Given the description of an element on the screen output the (x, y) to click on. 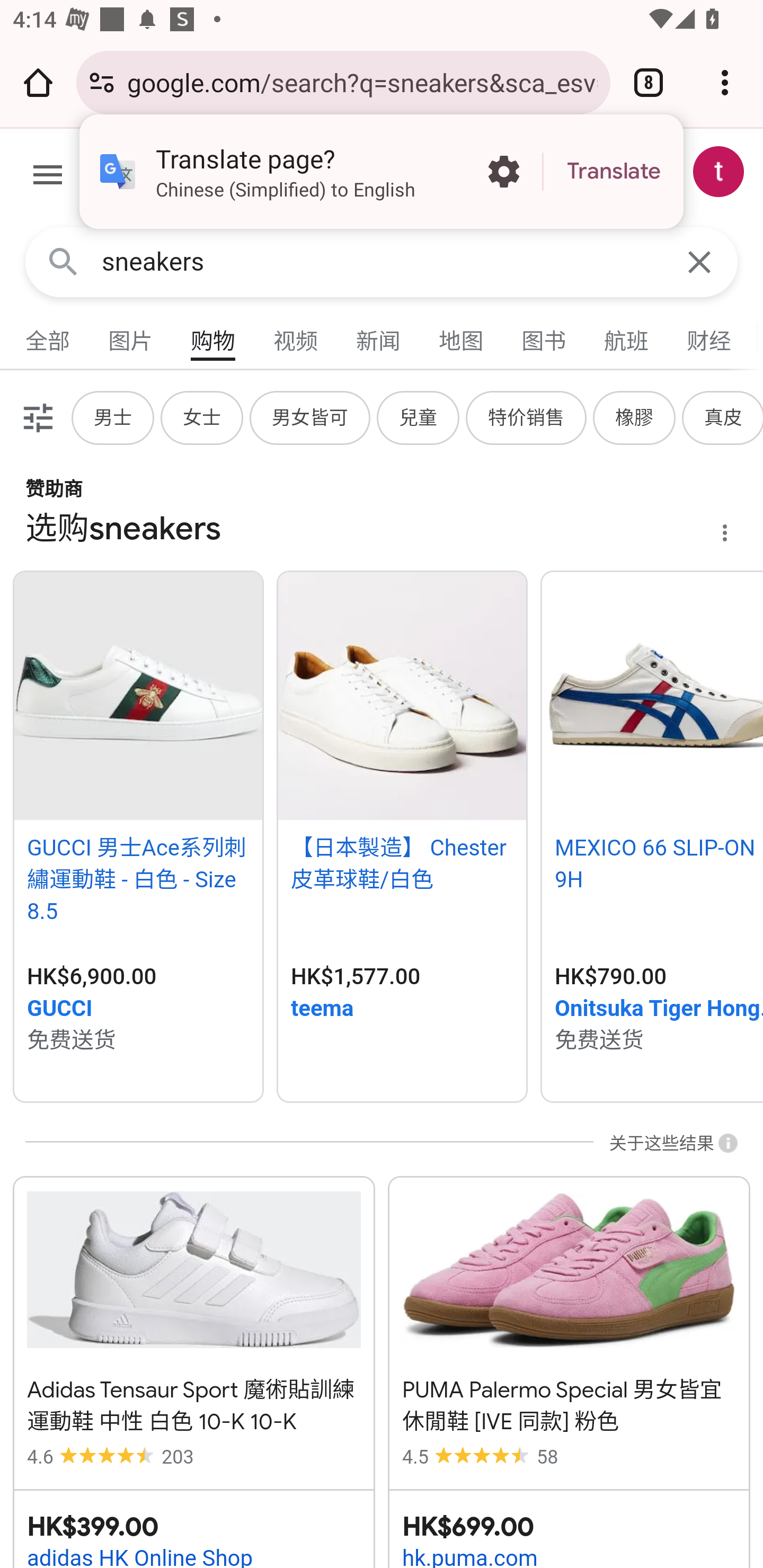
Open the home page (38, 82)
Connection is secure (101, 82)
Switch or close tabs (648, 82)
Customize and control Google Chrome (724, 82)
Translate (613, 171)
主菜单 (47, 177)
More options in the Translate page? (503, 171)
Google 账号： test appium (testappium002@gmail.com) (718, 171)
Google 搜索 (63, 262)
清除搜索 (699, 262)
sneakers (381, 261)
全部 (48, 336)
图片 (131, 336)
视频 (296, 336)
新闻 (379, 336)
地图 (461, 336)
图书 (544, 336)
航班 (627, 336)
财经 (709, 336)
过滤条件.已应用 0 个过滤条件。 (35, 416)
男士 (113, 417)
女士 (202, 417)
男女皆可 (310, 417)
兒童 (418, 417)
特价销售 (527, 417)
橡膠 (634, 417)
真皮 (723, 417)
来自GUCCI GUCCI (137, 1009)
来自teema teema (401, 1009)
关于这些结果 More info 关于这些结果  More info (664, 1144)
HK$699.00 hk.puma.com 免运费 HK$699.00
 hk.puma.com (568, 1528)
